Given the description of an element on the screen output the (x, y) to click on. 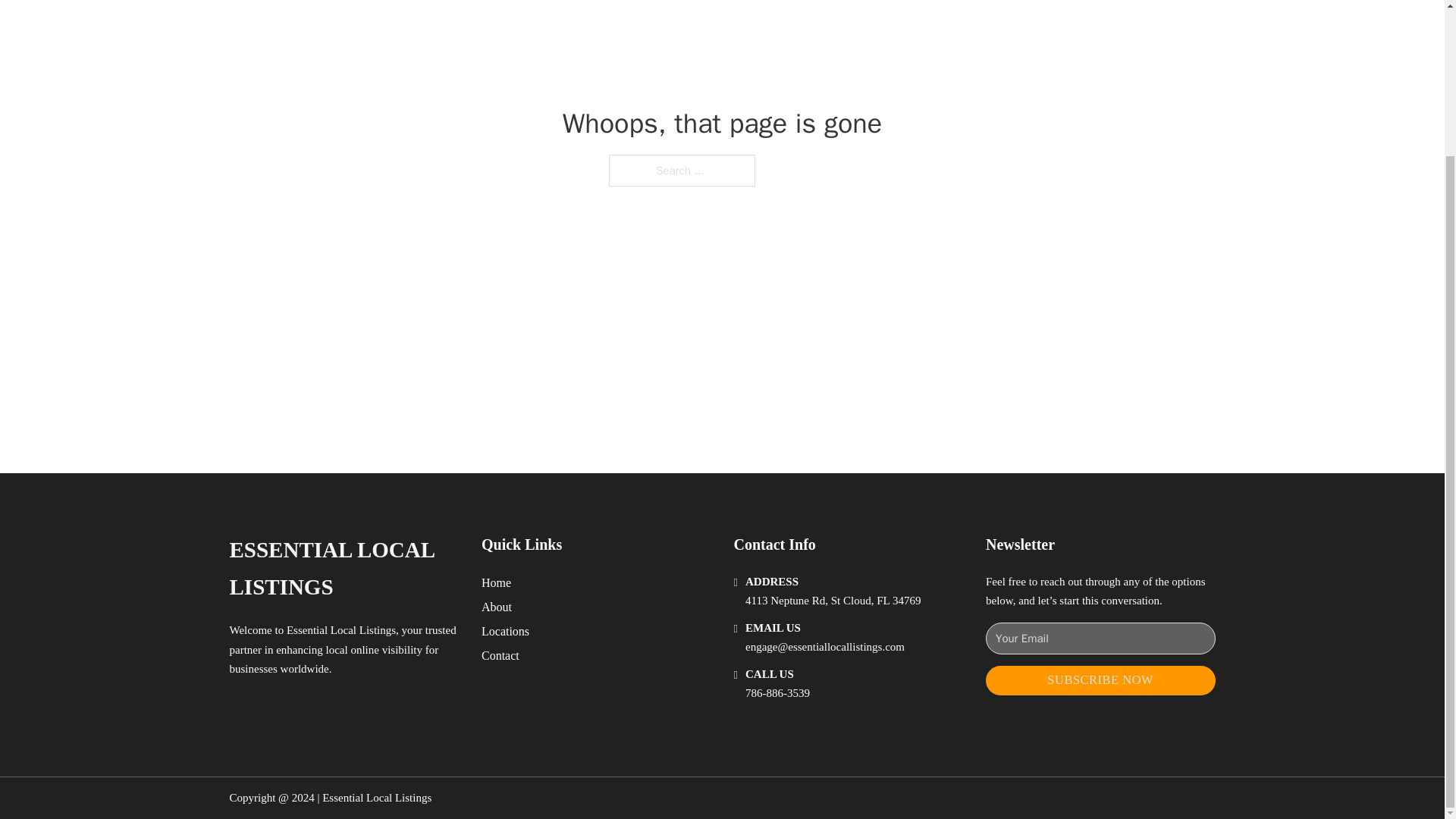
ESSENTIAL LOCAL LISTINGS (343, 568)
About (496, 607)
Home (496, 582)
786-886-3539 (777, 693)
SUBSCRIBE NOW (1100, 680)
Locations (505, 630)
Contact (500, 655)
